Given the description of an element on the screen output the (x, y) to click on. 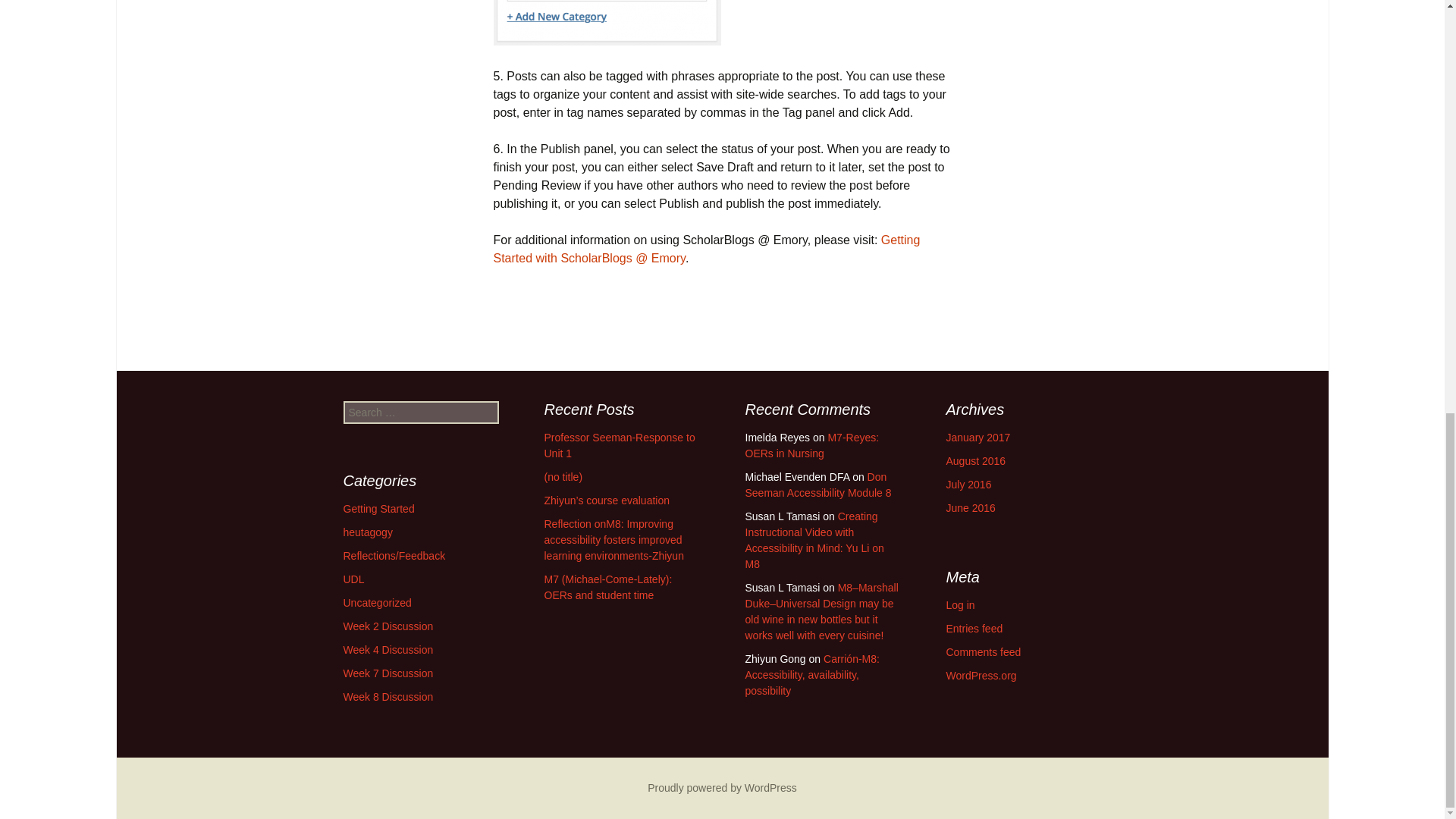
August 2016 (976, 460)
Week 7 Discussion (387, 673)
Week 4 Discussion (387, 649)
Uncategorized (376, 603)
WordPress.org (981, 675)
Getting Started (377, 508)
Don Seeman Accessibility Module 8 (817, 484)
Week 8 Discussion (387, 696)
Log in (960, 604)
M7-Reyes: OERs in Nursing (811, 445)
June 2016 (970, 508)
Professor Seeman-Response to Unit 1 (619, 445)
Comments feed (984, 652)
UDL (353, 579)
